Given the description of an element on the screen output the (x, y) to click on. 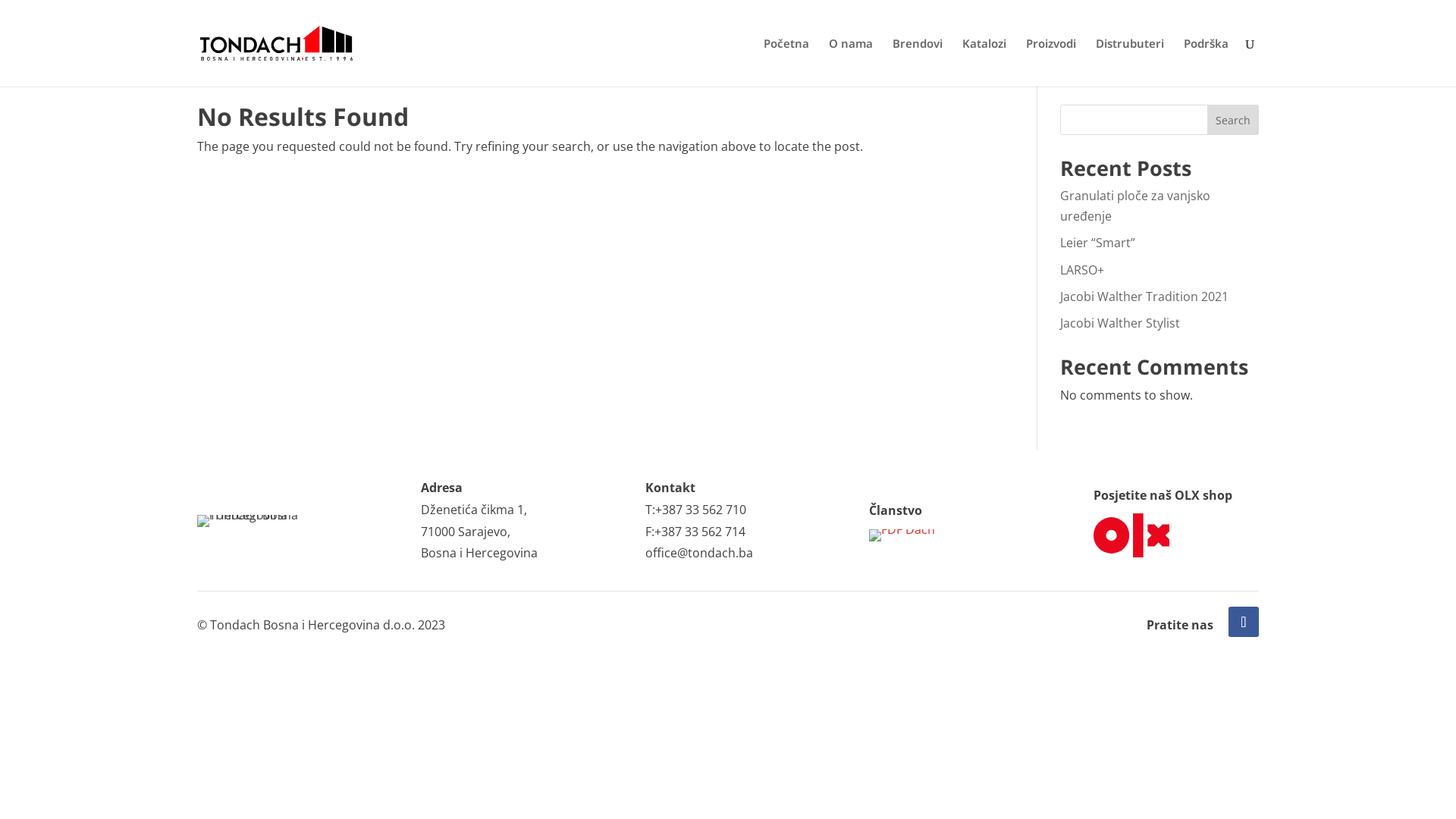
Follow on Facebook Element type: hover (1243, 621)
  Element type: hover (902, 535)
Katalozi Element type: text (984, 61)
  Element type: hover (1131, 534)
Jacobi Walther Stylist Element type: text (1119, 322)
tondach logo png 2 Element type: hover (250, 520)
Jacobi Walther Tradition 2021 Element type: text (1144, 296)
Distrubuteri Element type: text (1129, 61)
Search Element type: text (1232, 119)
LARSO+ Element type: text (1082, 269)
Brendovi Element type: text (917, 61)
Proizvodi Element type: text (1051, 61)
O nama Element type: text (850, 61)
